Given the description of an element on the screen output the (x, y) to click on. 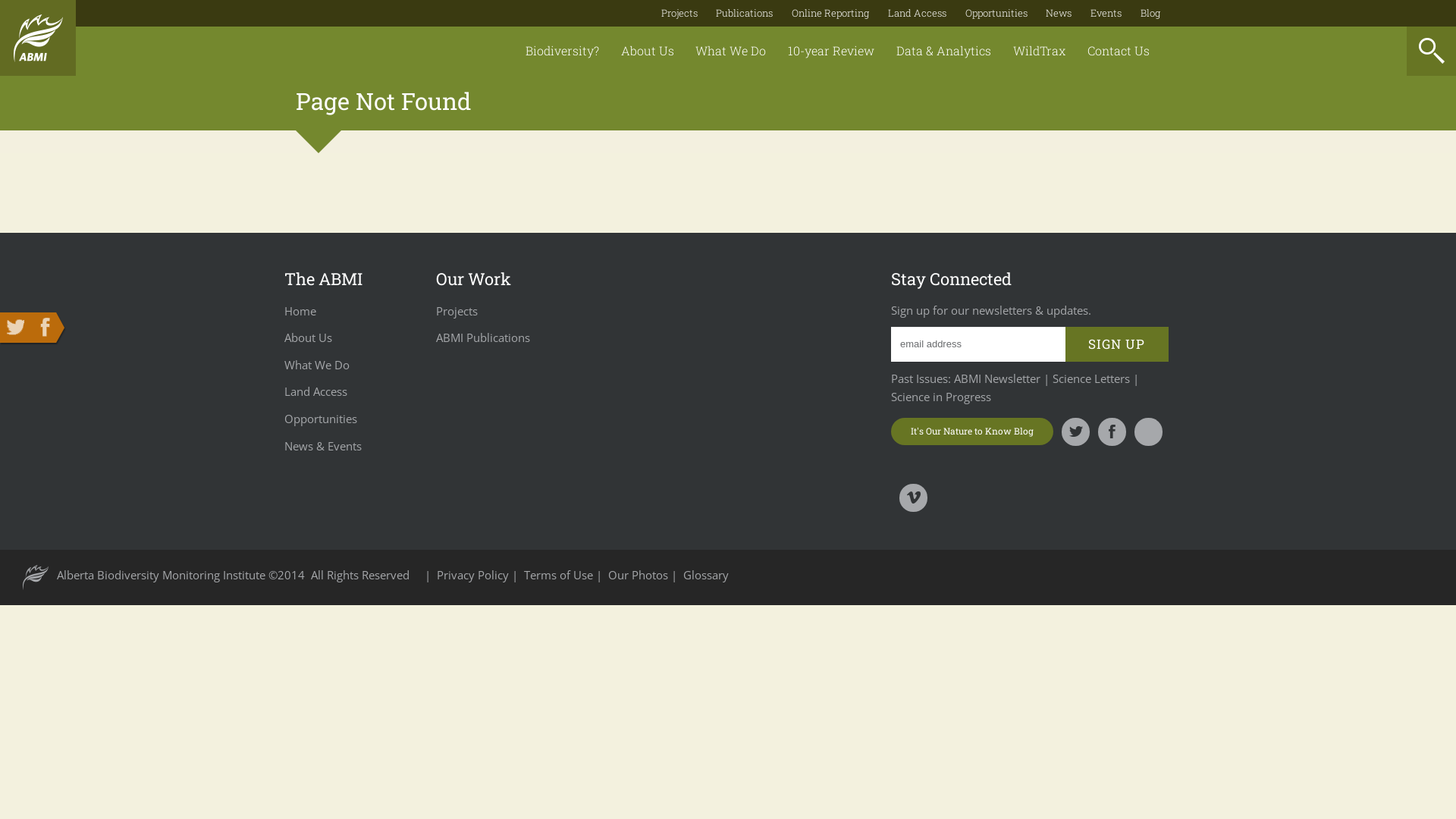
Biodiversity? Element type: text (562, 50)
WildTrax Element type: text (1038, 50)
Opportunities Element type: text (996, 12)
Science Letters Element type: text (1090, 377)
News Element type: text (1058, 12)
ABMI Publications Element type: text (483, 337)
Land Access Element type: text (315, 390)
Events Element type: text (1105, 12)
News & Events Element type: text (322, 445)
Land Access Element type: text (917, 12)
Home Element type: text (300, 310)
Contact Us Element type: text (1118, 50)
About Us Element type: text (646, 50)
10-year Review Element type: text (831, 50)
Projects Element type: text (456, 310)
Science in Progress Element type: text (941, 396)
Twitter Element type: hover (15, 327)
Our Photos Element type: text (639, 574)
Instagram Element type: hover (1148, 431)
Blog Element type: text (1150, 12)
It's Our Nature to Know Blog Element type: text (972, 431)
Facebook Element type: hover (45, 326)
Terms of Use Element type: text (560, 574)
Privacy Policy Element type: text (473, 574)
Opportunities Element type: text (320, 418)
Data & Analytics Element type: text (943, 50)
Glossary Element type: text (705, 574)
Sign Up Element type: text (1116, 343)
Online Reporting Element type: text (830, 12)
About Us Element type: text (308, 337)
email address Element type: hover (978, 343)
What We Do Element type: text (316, 364)
Projects Element type: text (679, 12)
What We Do Element type: text (730, 50)
ABMI Newsletter Element type: text (995, 377)
Publications Element type: text (743, 12)
